Given the description of an element on the screen output the (x, y) to click on. 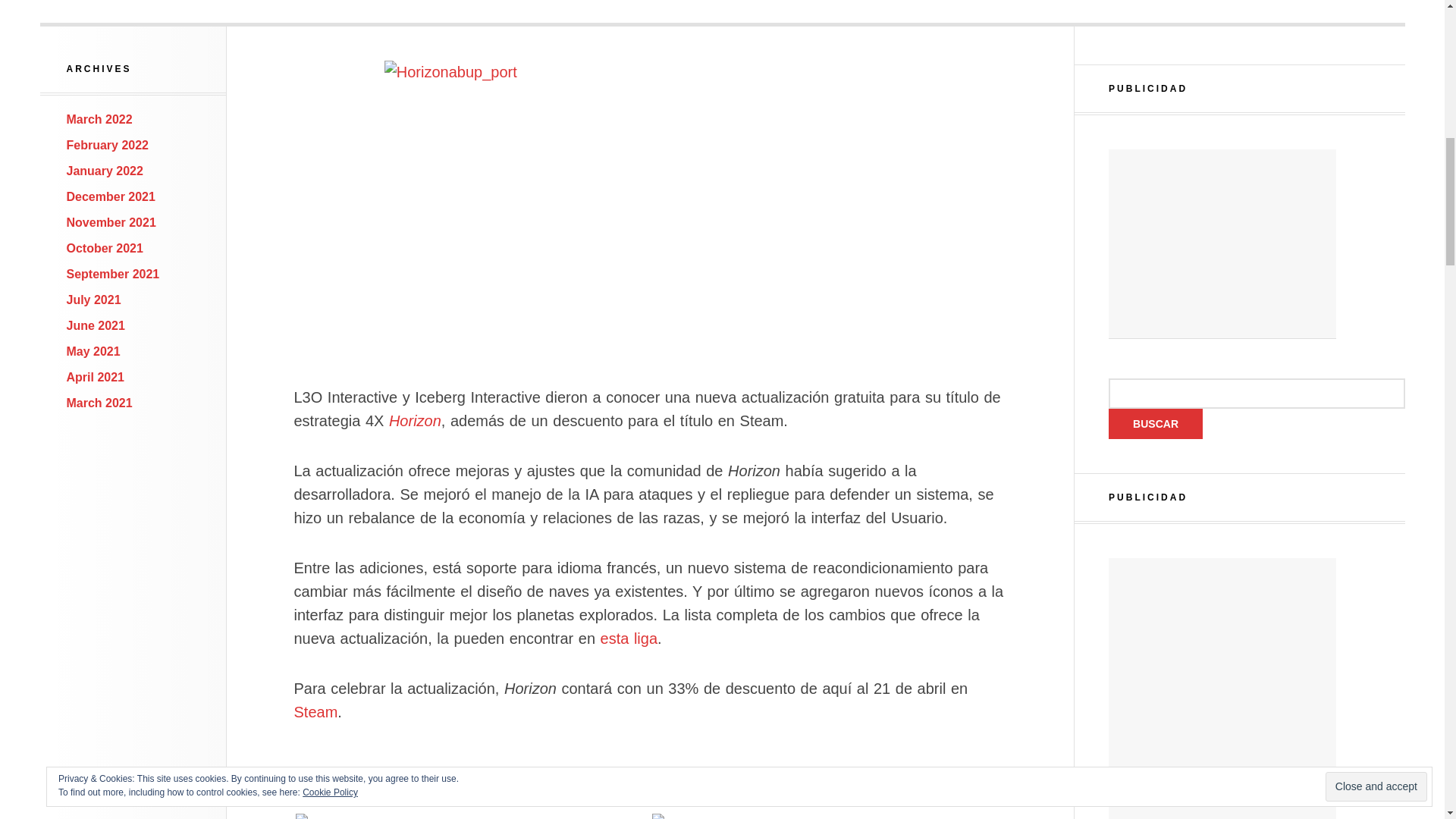
November 2021 (110, 222)
March 2021 (99, 402)
Buscar (1155, 423)
July 2021 (93, 299)
April 2021 (94, 377)
Harkan (472, 816)
February 2022 (107, 144)
October 2021 (104, 247)
December 2021 (110, 196)
January 2022 (104, 170)
